Given the description of an element on the screen output the (x, y) to click on. 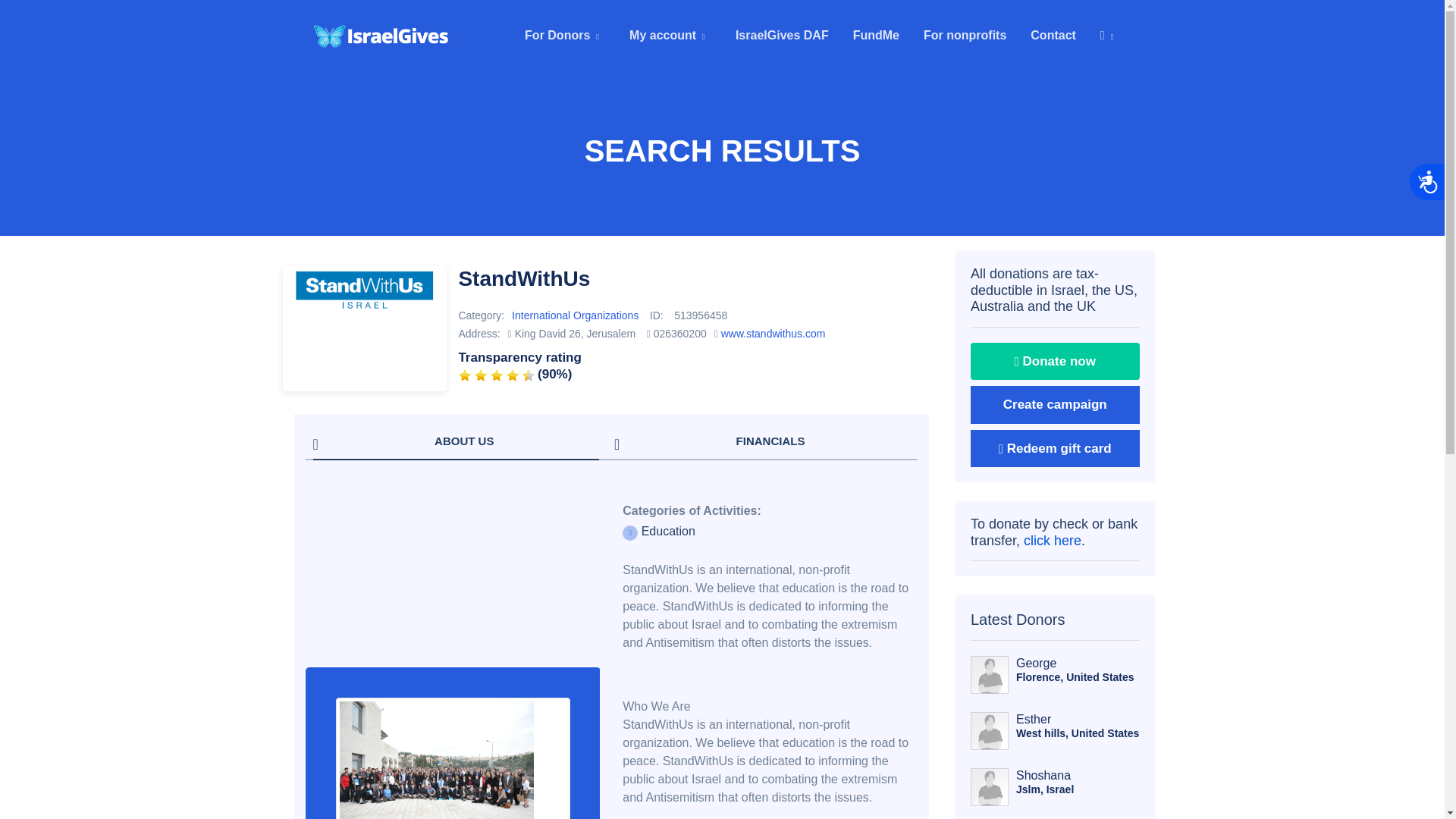
Donate now (1055, 361)
ABOUT US (455, 441)
Redeem gift card (1055, 448)
www.standwithus.com (772, 333)
My account (670, 35)
International Organizations (575, 315)
For nonprofits (964, 35)
FundMe (876, 35)
For Donors (564, 35)
IsraelGives DAF (782, 35)
click here (1052, 540)
FINANCIALS (762, 441)
Contact (1052, 35)
Create campaign (1055, 404)
